Given the description of an element on the screen output the (x, y) to click on. 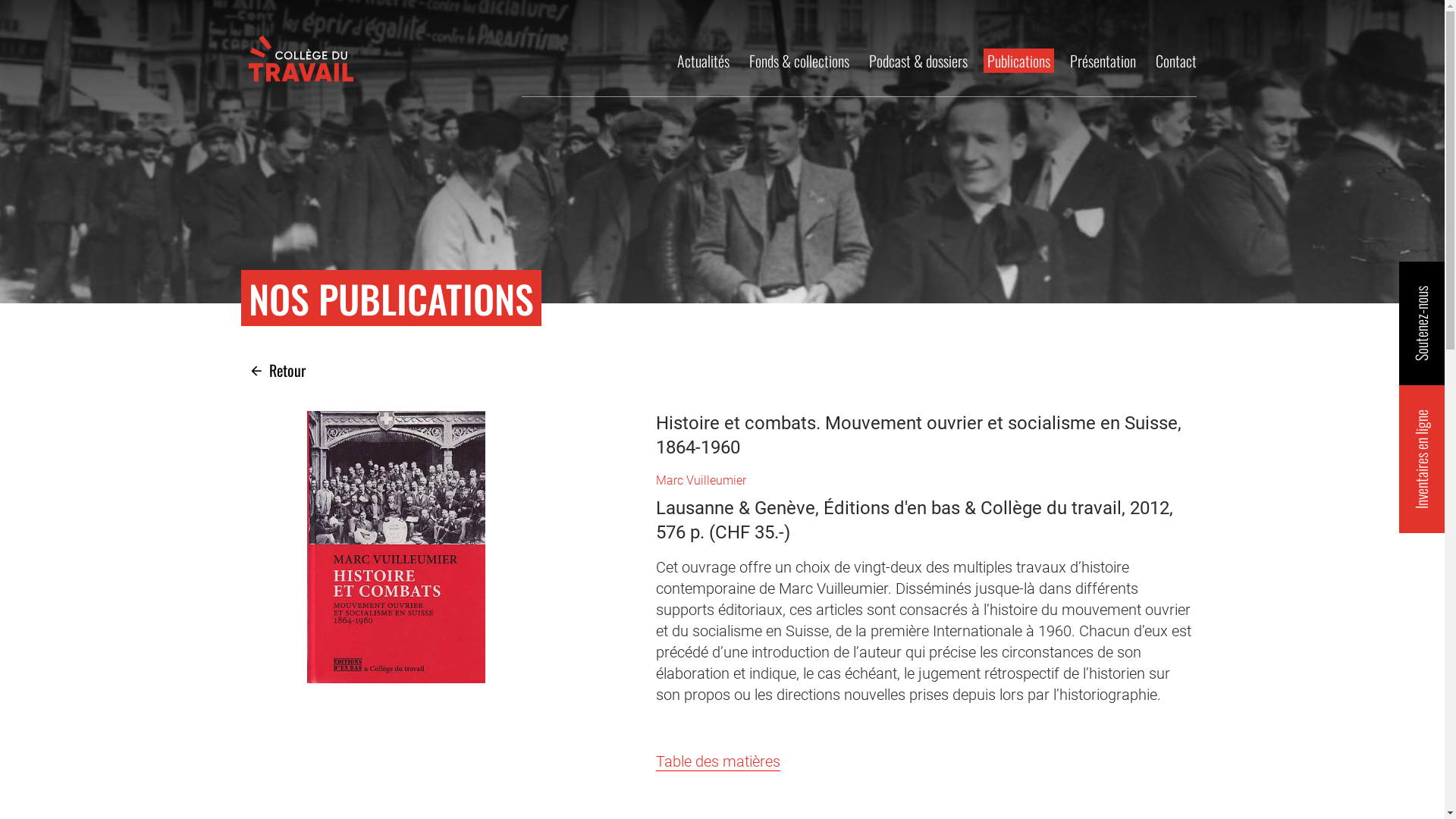
Publications Element type: text (1017, 60)
Contact Element type: text (1175, 60)
Fonds & collections Element type: text (798, 60)
Retour Element type: text (276, 370)
Podcast & dossiers Element type: text (917, 60)
